Given the description of an element on the screen output the (x, y) to click on. 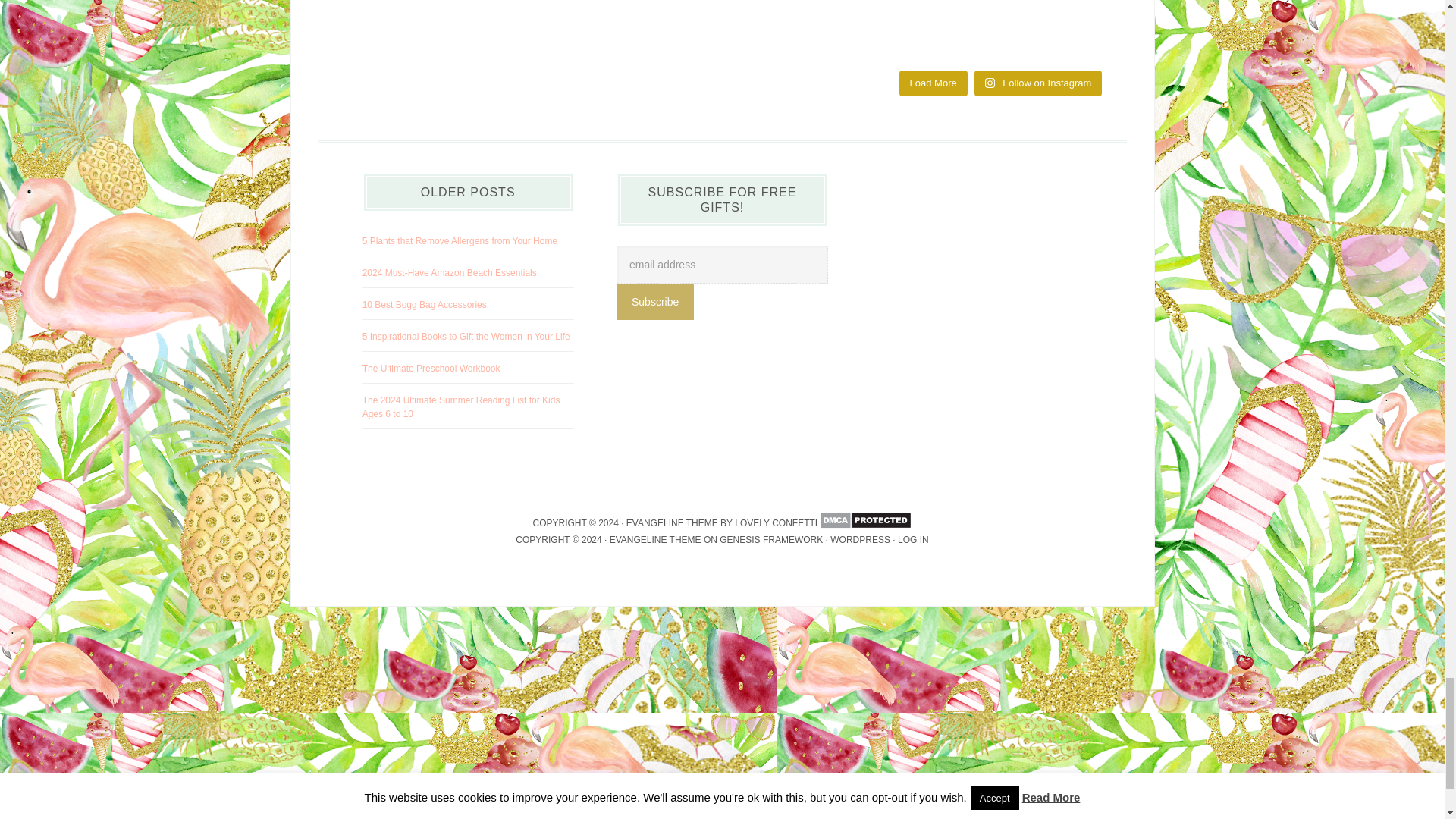
DMCA.com Protection Status (863, 522)
Subscribe (654, 301)
